Given the description of an element on the screen output the (x, y) to click on. 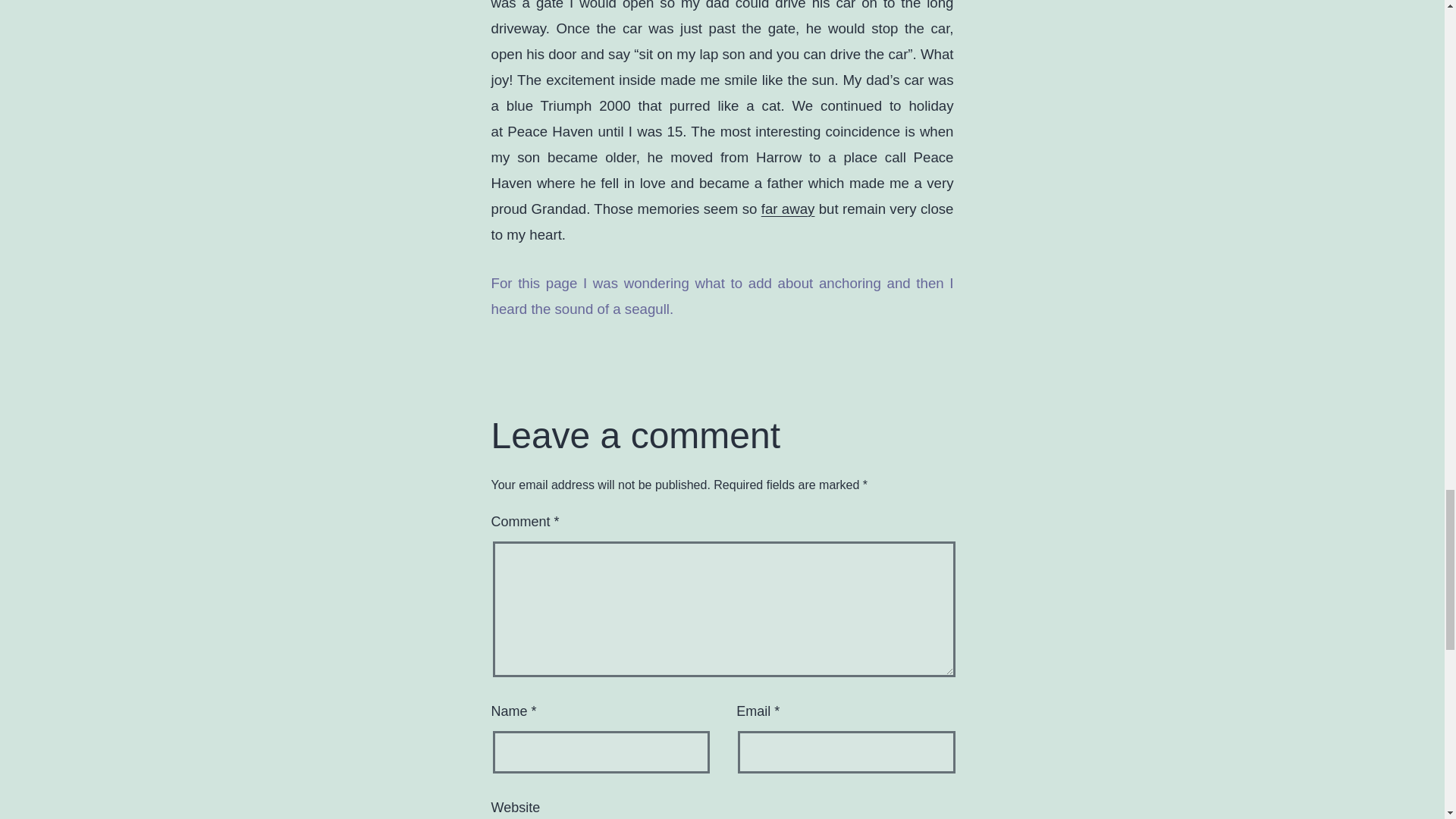
far away (788, 208)
